Given the description of an element on the screen output the (x, y) to click on. 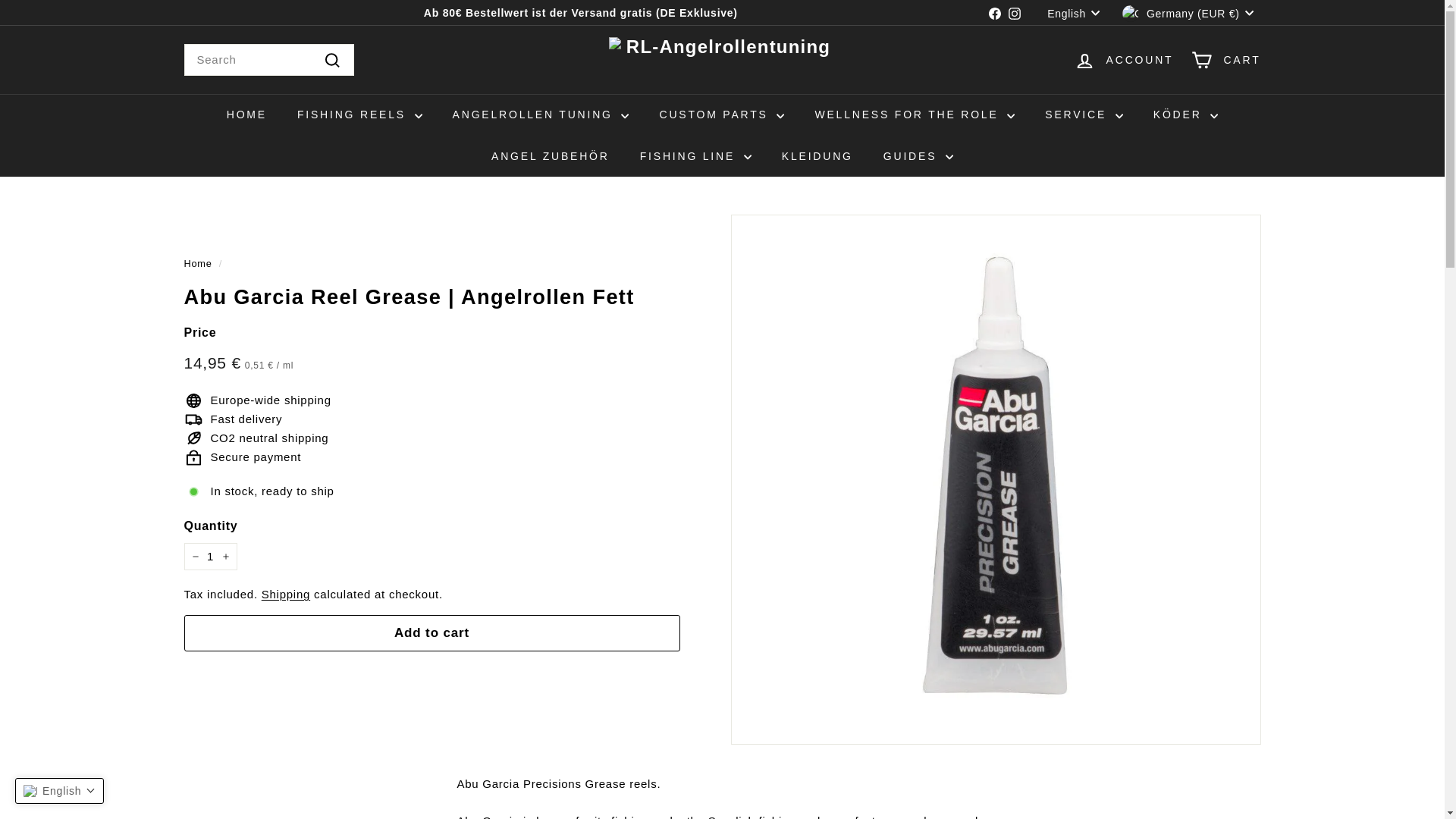
Back to the frontpage (197, 263)
1 (209, 556)
English (1076, 12)
